Given the description of an element on the screen output the (x, y) to click on. 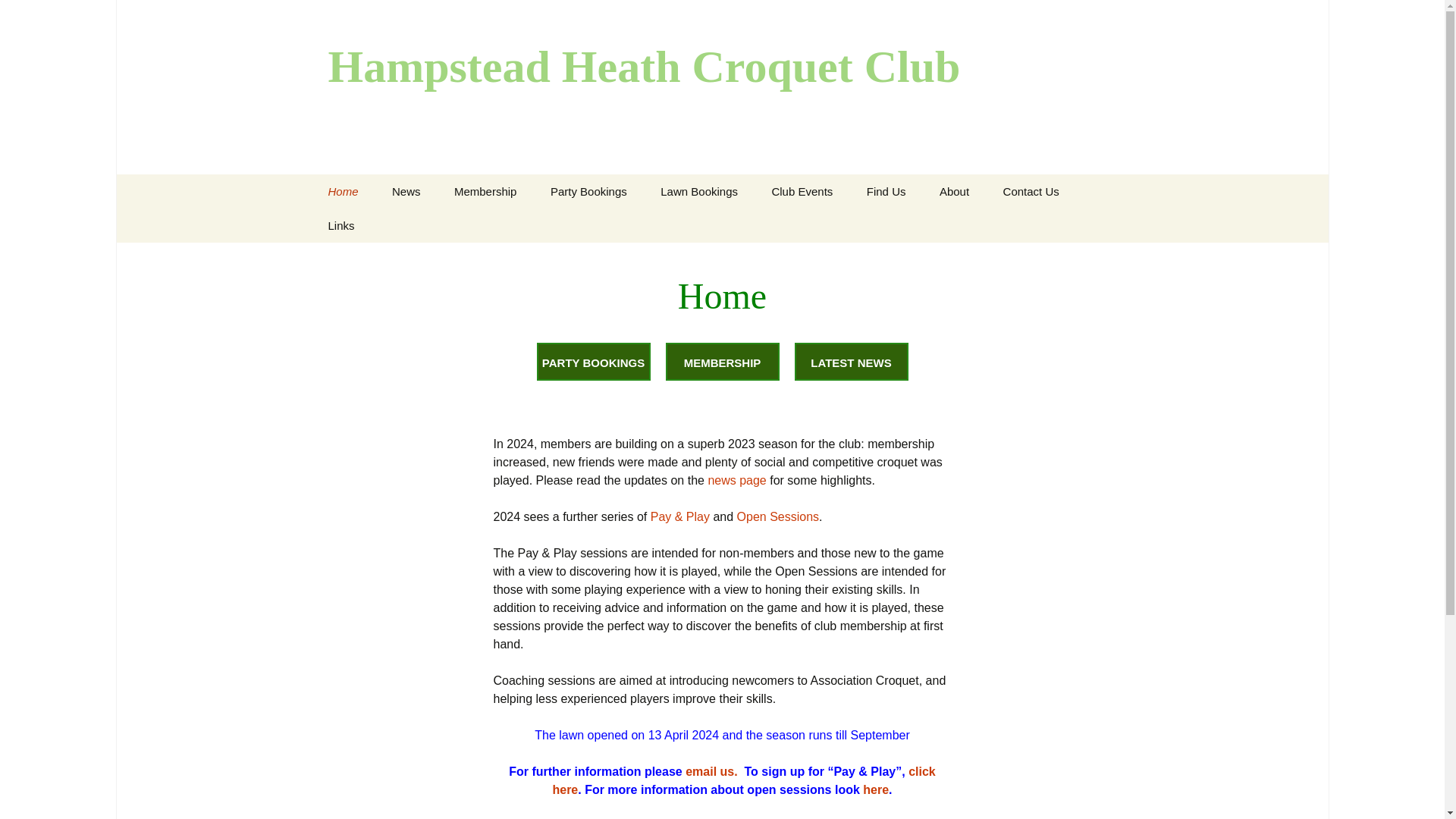
Links (341, 225)
MEMBERSHIP (721, 361)
Membership (485, 191)
General (720, 225)
here (875, 789)
Find Us (886, 191)
email us. (710, 771)
click here (742, 780)
About (954, 191)
LATEST NEWS (851, 361)
